Given the description of an element on the screen output the (x, y) to click on. 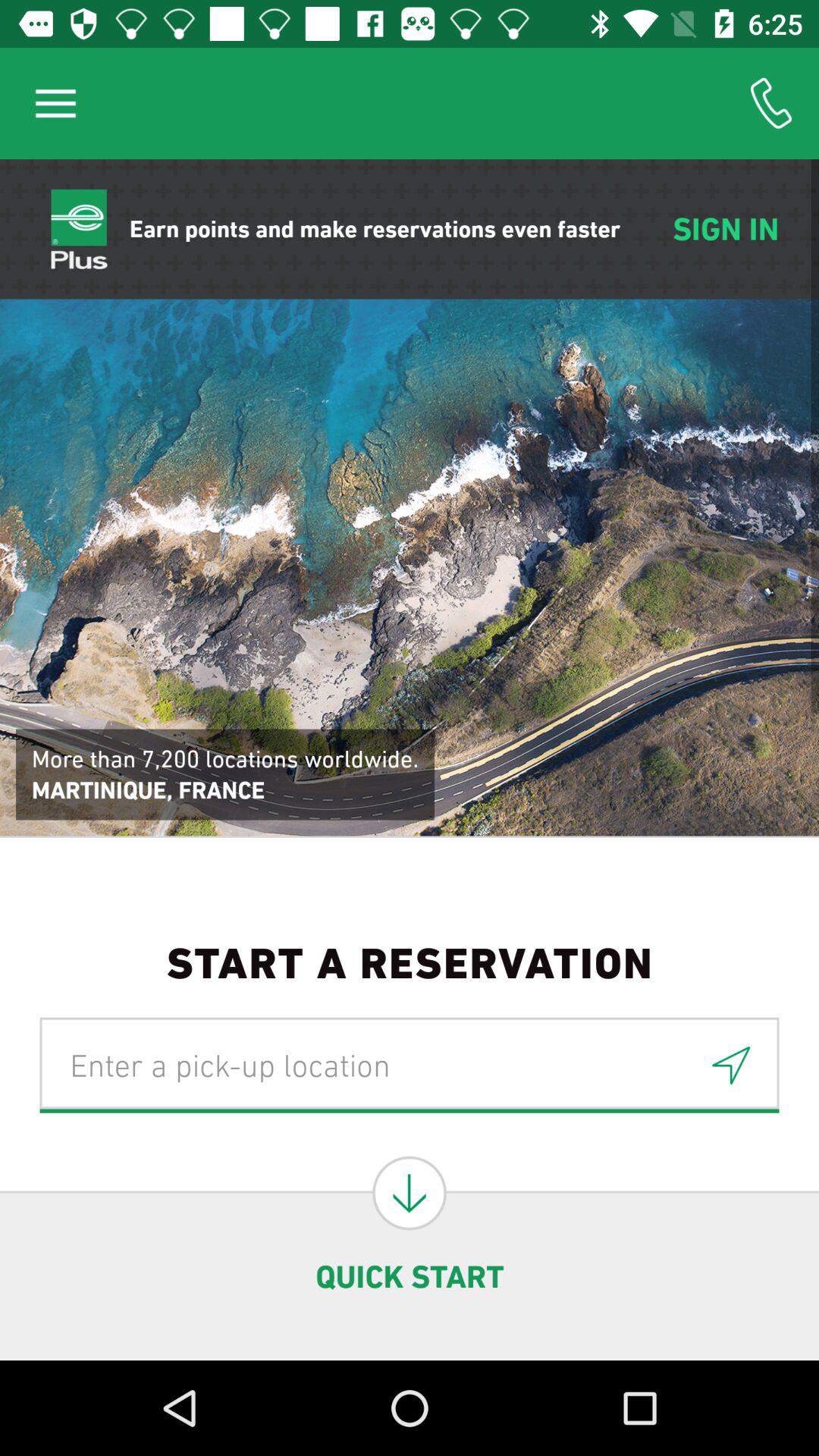
your message was sent (731, 1065)
